Given the description of an element on the screen output the (x, y) to click on. 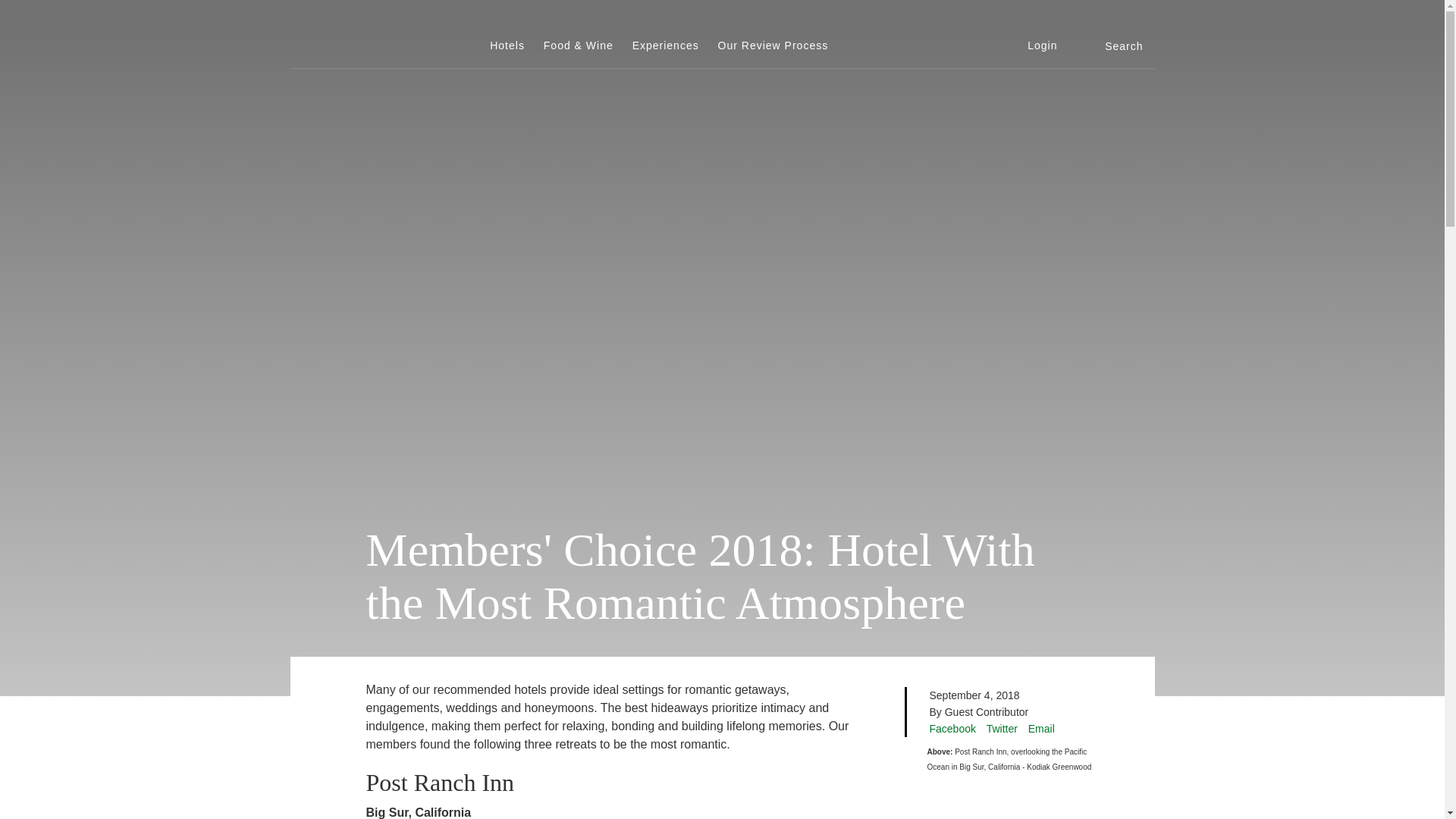
Login (1042, 44)
Facebook (952, 728)
Twitter (1002, 728)
Email (1040, 728)
Hotels (506, 44)
Our Review Process (772, 44)
Search (1119, 44)
